Given the description of an element on the screen output the (x, y) to click on. 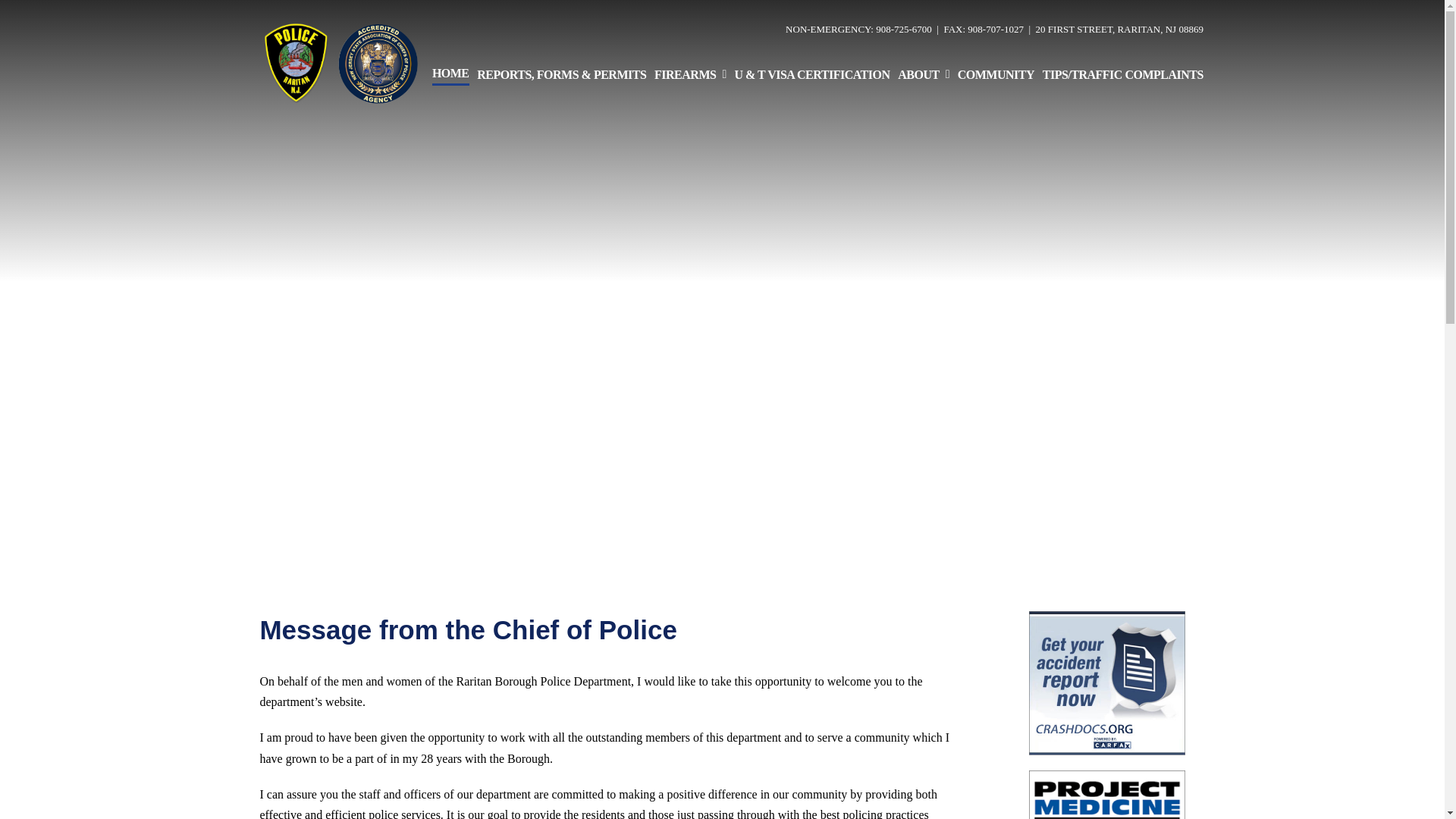
HOME (450, 74)
ABOUT (923, 74)
FIREARMS (689, 74)
COMMUNITY (995, 74)
